Given the description of an element on the screen output the (x, y) to click on. 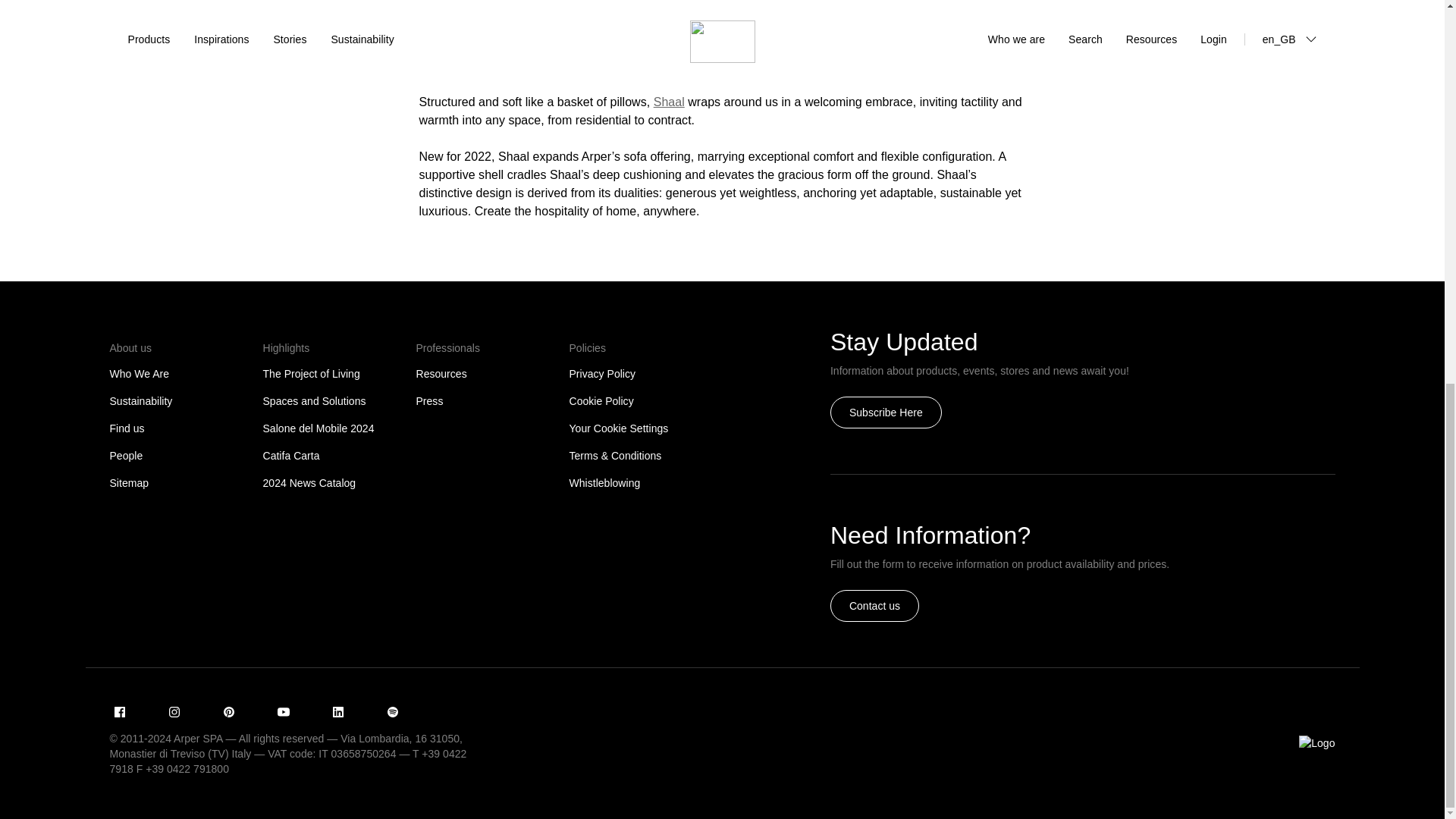
on (114, 336)
on (421, 336)
on (268, 336)
on (574, 336)
